Given the description of an element on the screen output the (x, y) to click on. 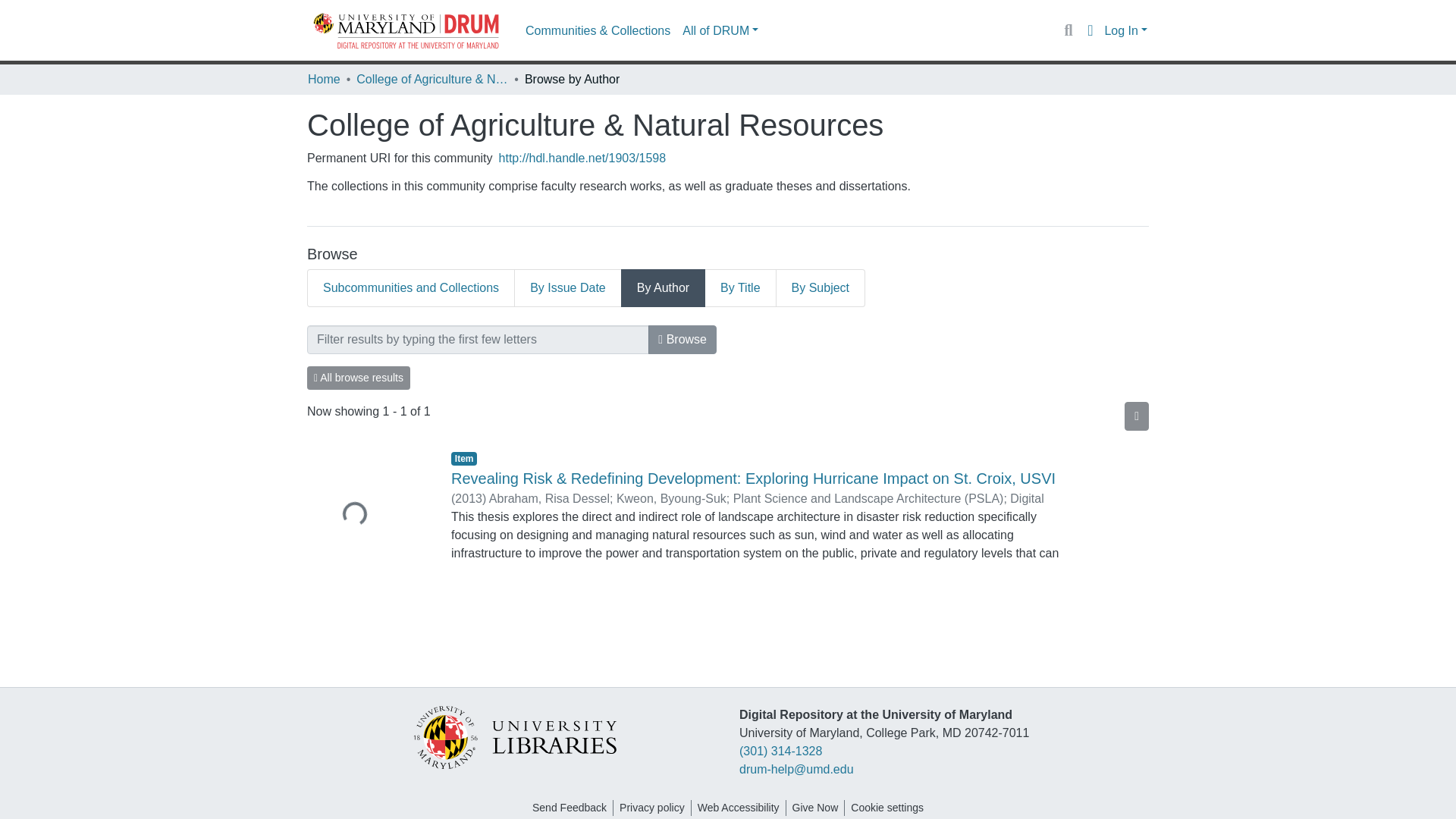
Language switch (1089, 30)
By Issue Date (568, 288)
All browse results (358, 377)
Home (323, 79)
All of DRUM (720, 30)
By Title (740, 288)
Libraries Home Page (515, 735)
Subcommunities and Collections (411, 288)
Search (1067, 30)
Log In (1125, 30)
Browse (681, 339)
By Author (662, 288)
By Subject (820, 288)
